Given the description of an element on the screen output the (x, y) to click on. 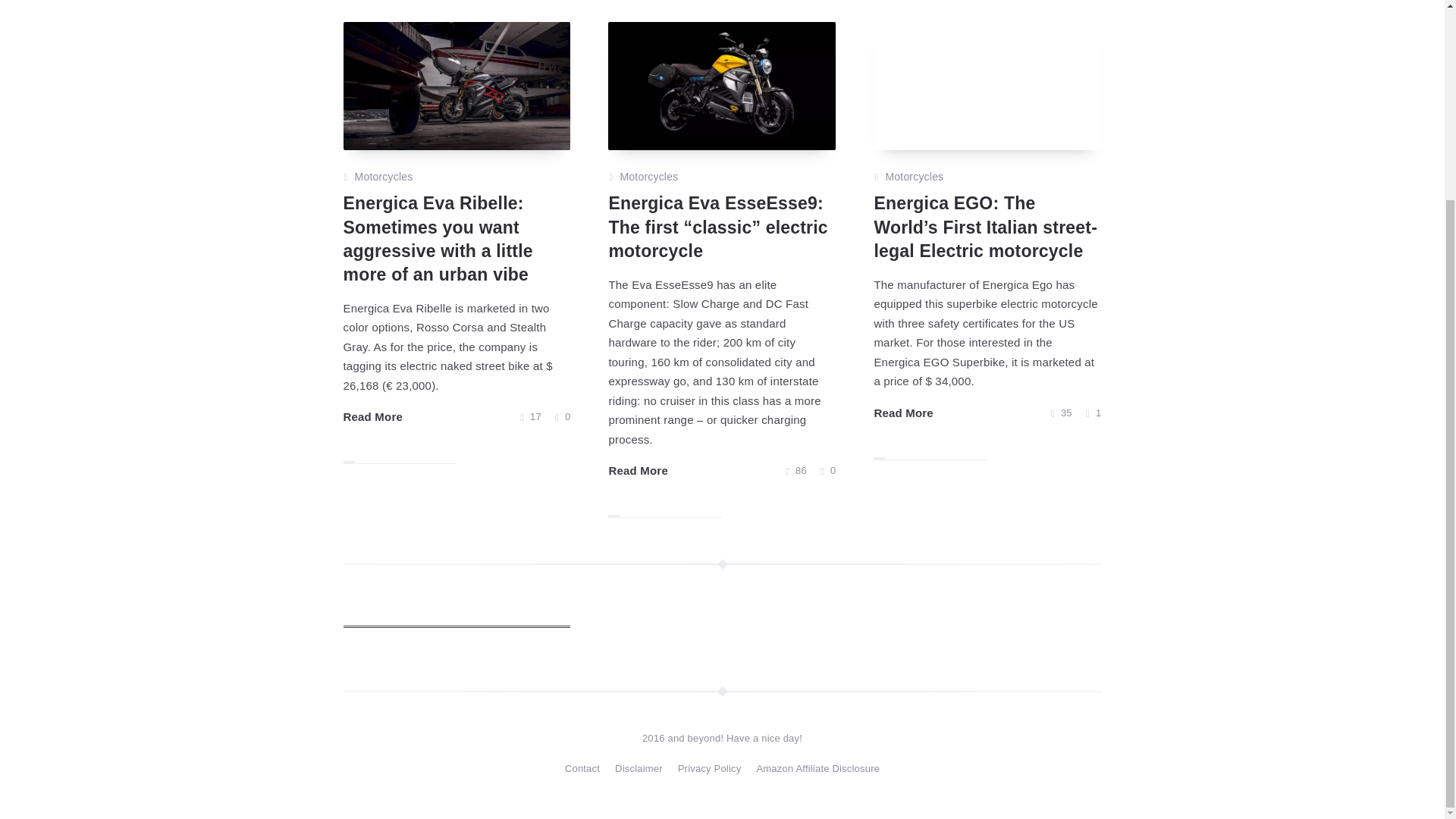
Motorcycles (384, 177)
17 (530, 416)
Motorcycles (649, 177)
Read More (372, 416)
86 (796, 470)
Read More (638, 470)
